Given the description of an element on the screen output the (x, y) to click on. 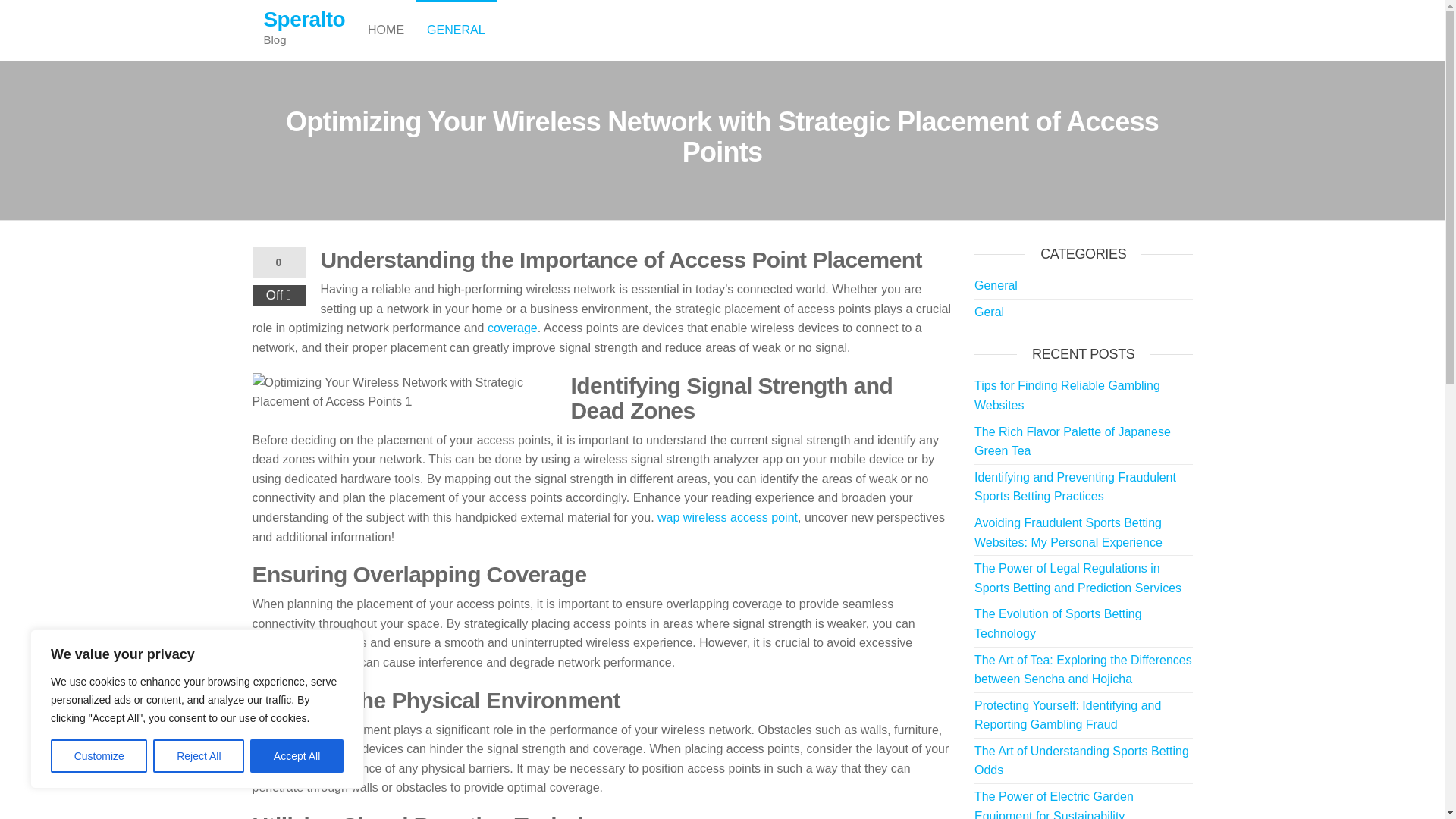
General (995, 285)
coverage (512, 327)
Geral (989, 311)
Reject All (198, 756)
The Art of Understanding Sports Betting Odds (1081, 760)
General (455, 30)
Customize (98, 756)
wap wireless access point (727, 517)
HOME (385, 30)
Speralto (304, 19)
Accept All (296, 756)
Tips for Finding Reliable Gambling Websites (1067, 395)
